Given the description of an element on the screen output the (x, y) to click on. 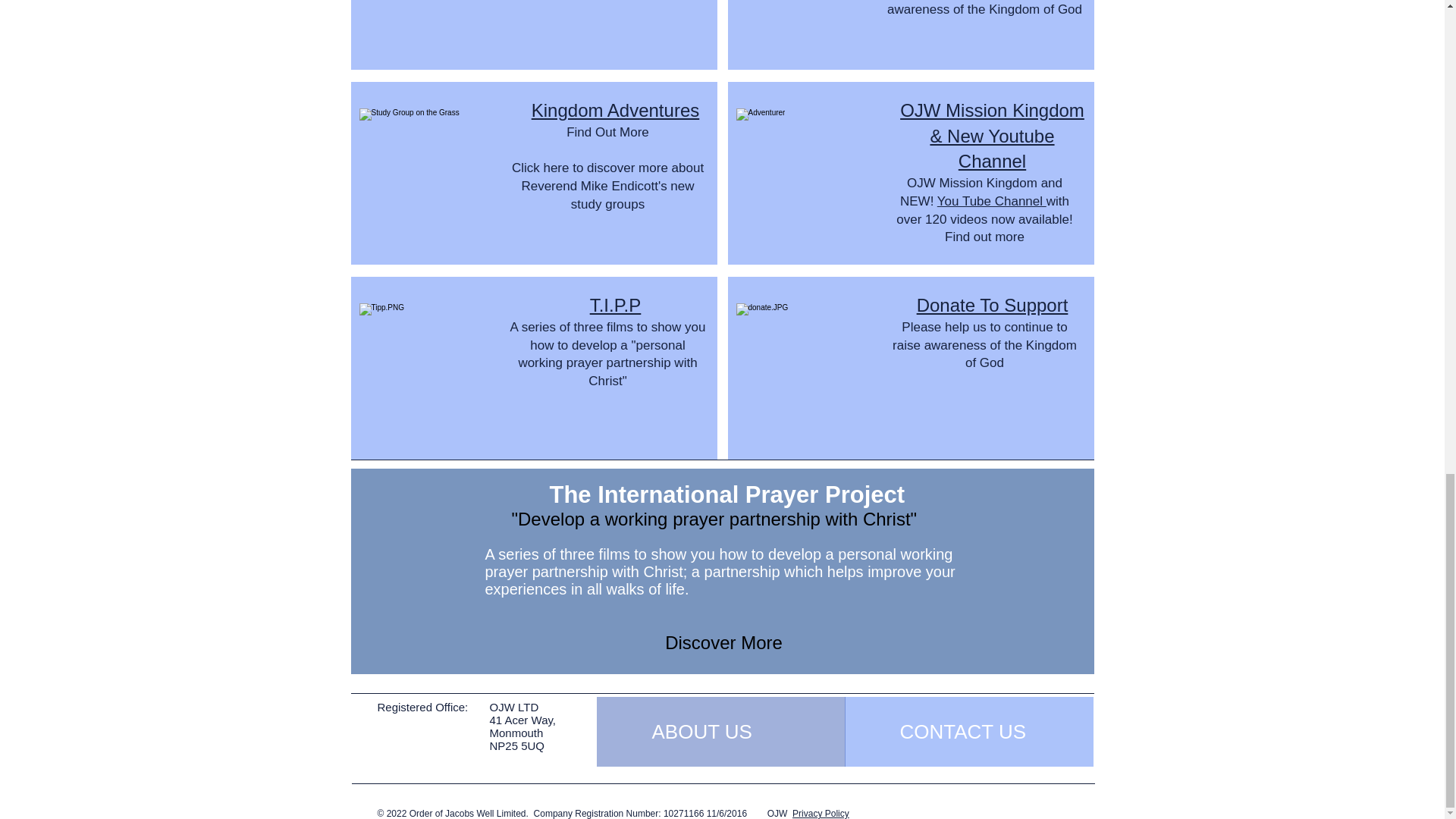
Donate To Support (992, 304)
CONTACT US (968, 731)
T.I.P.P (615, 304)
Find Out More (607, 132)
ABOUT US (719, 731)
You Tube Channel (991, 201)
Discover More (724, 642)
